Given the description of an element on the screen output the (x, y) to click on. 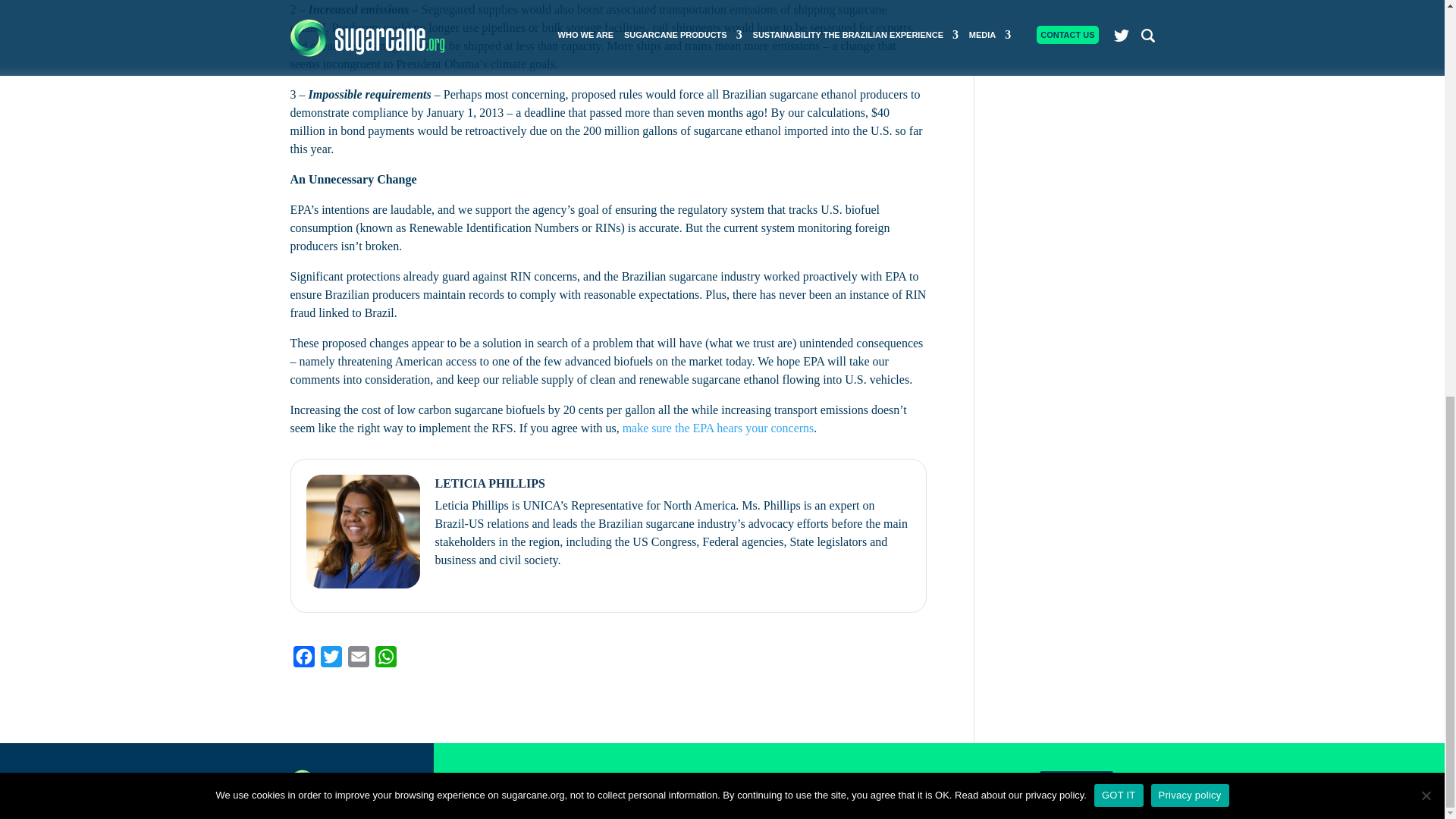
Twitter (330, 660)
Email (357, 660)
Facebook (303, 660)
WhatsApp (384, 660)
